Given the description of an element on the screen output the (x, y) to click on. 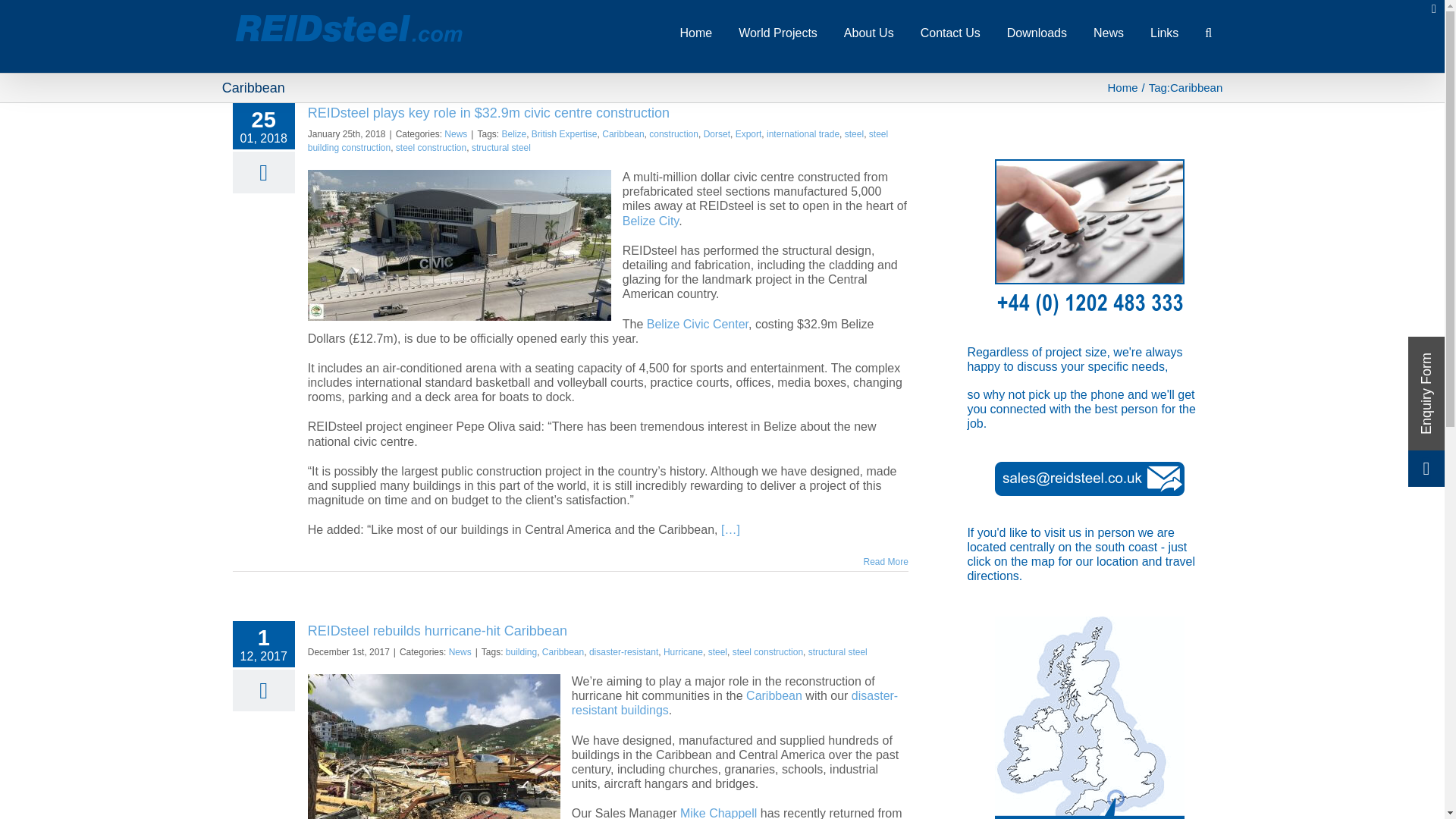
Downloads (1037, 32)
Contact Us (949, 32)
World Projects (777, 32)
